Given the description of an element on the screen output the (x, y) to click on. 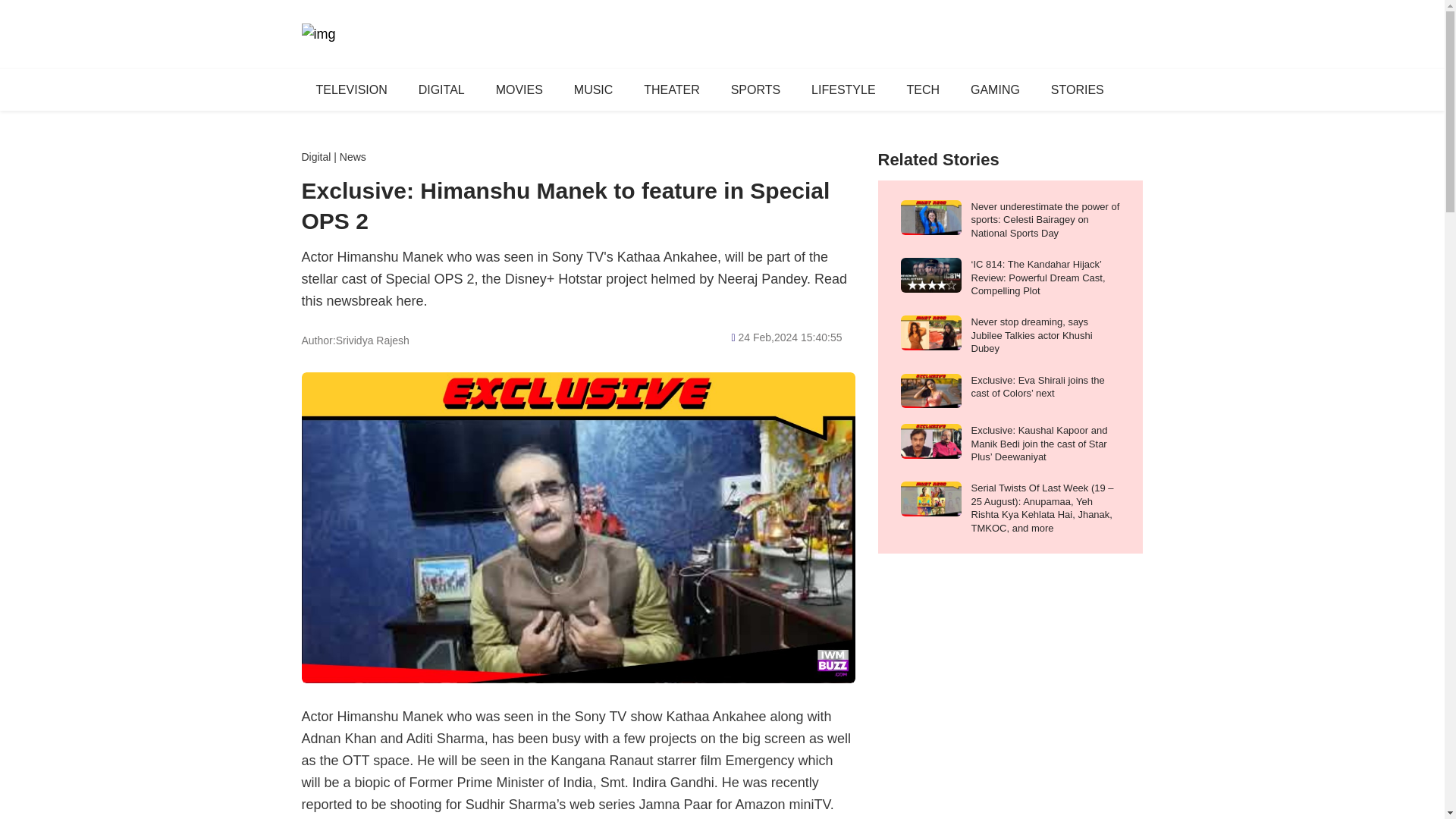
SPORTS (755, 89)
Tech (923, 89)
LIFESTYLE (842, 89)
Lifestyle (842, 89)
Sports (755, 89)
Digital (316, 156)
MUSIC (592, 89)
Gaming (995, 89)
TELEVISION (351, 89)
